Given the description of an element on the screen output the (x, y) to click on. 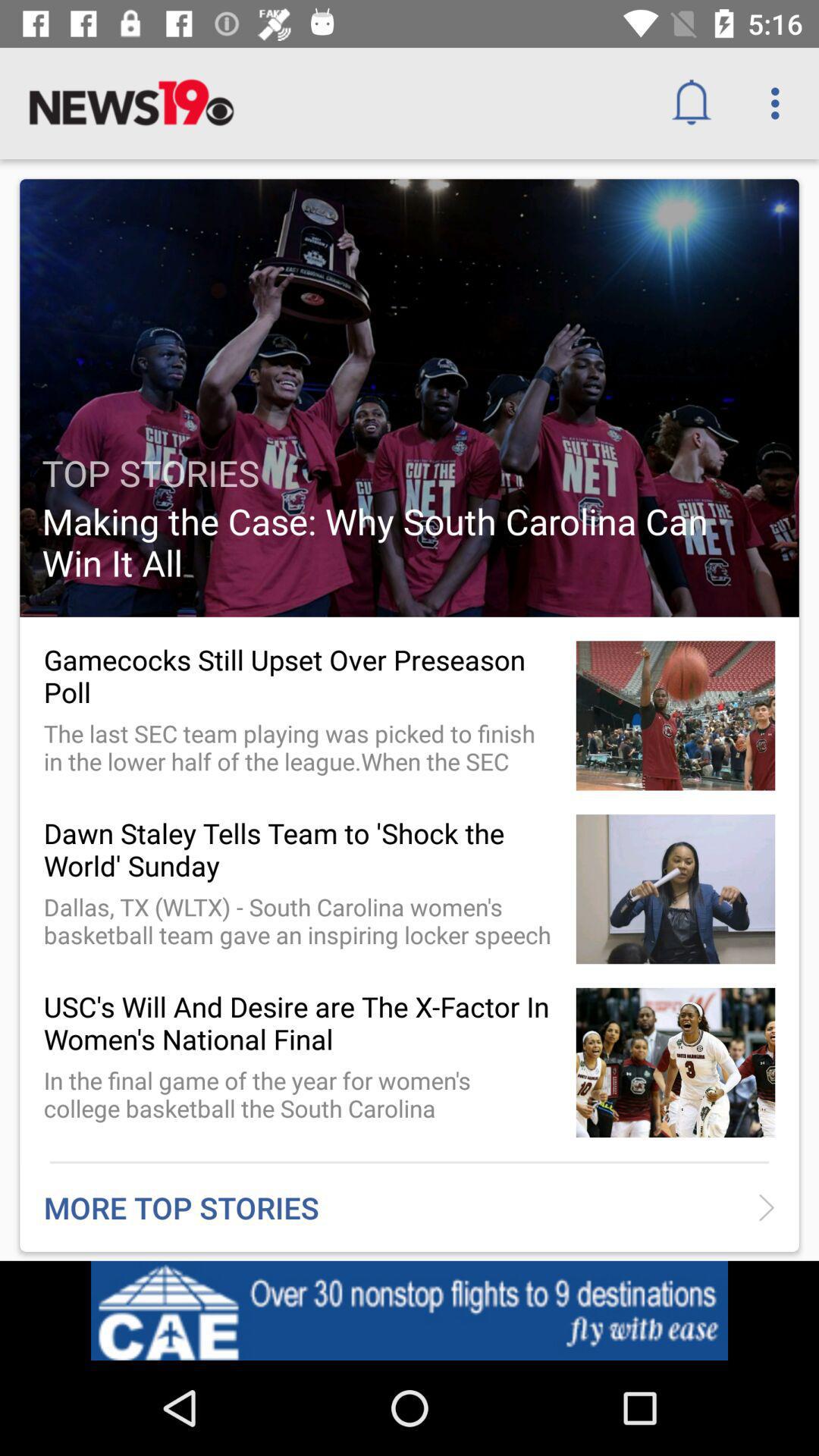
select item next to san francisco icon (696, 1315)
